Given the description of an element on the screen output the (x, y) to click on. 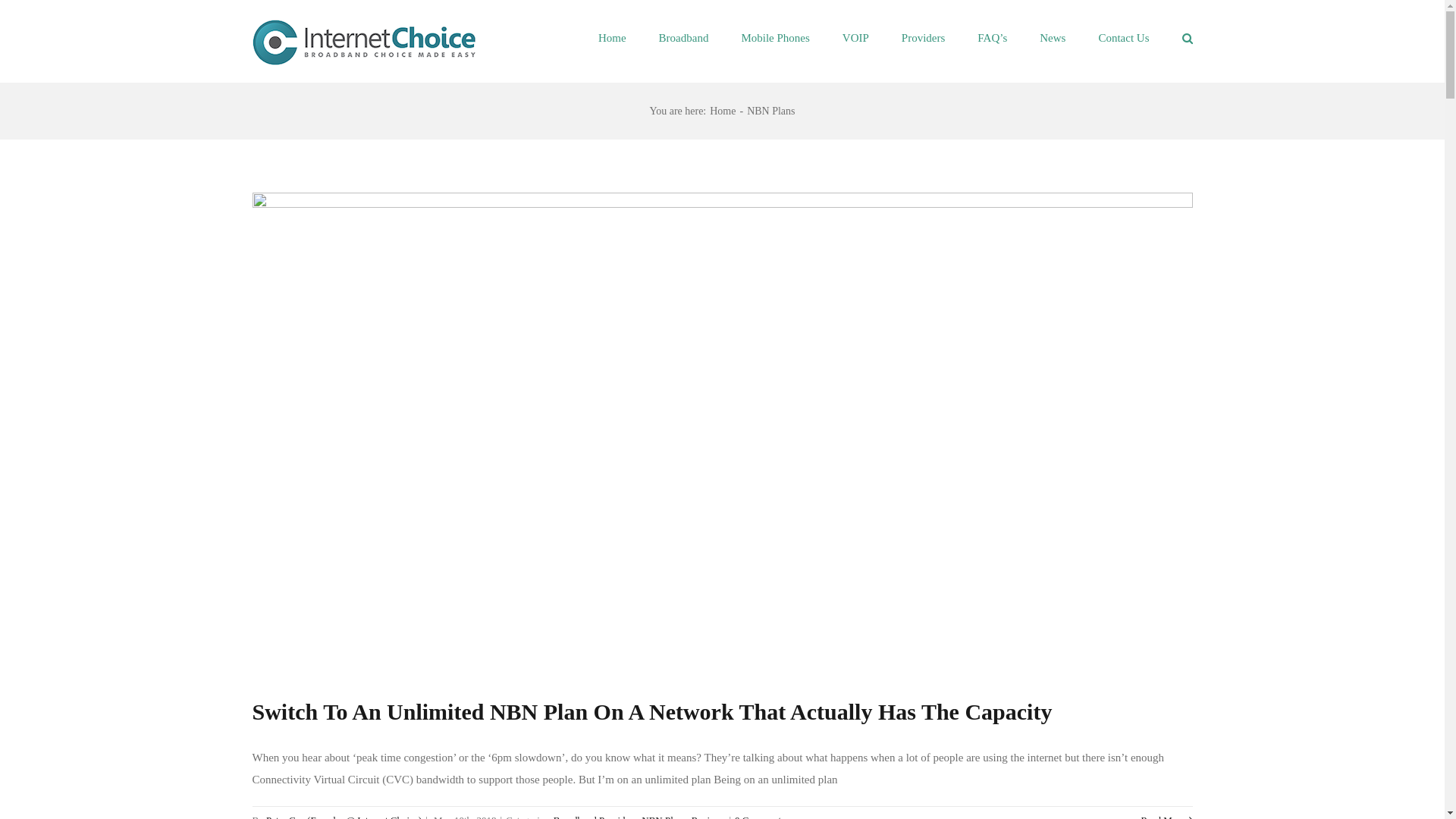
Providers Element type: text (923, 36)
Home Element type: text (612, 36)
Home Element type: text (722, 110)
News Element type: text (1052, 36)
Mobile Phones Element type: text (774, 36)
VOIP Element type: text (855, 36)
Broadband Element type: text (683, 36)
Contact Us Element type: text (1123, 36)
